Given the description of an element on the screen output the (x, y) to click on. 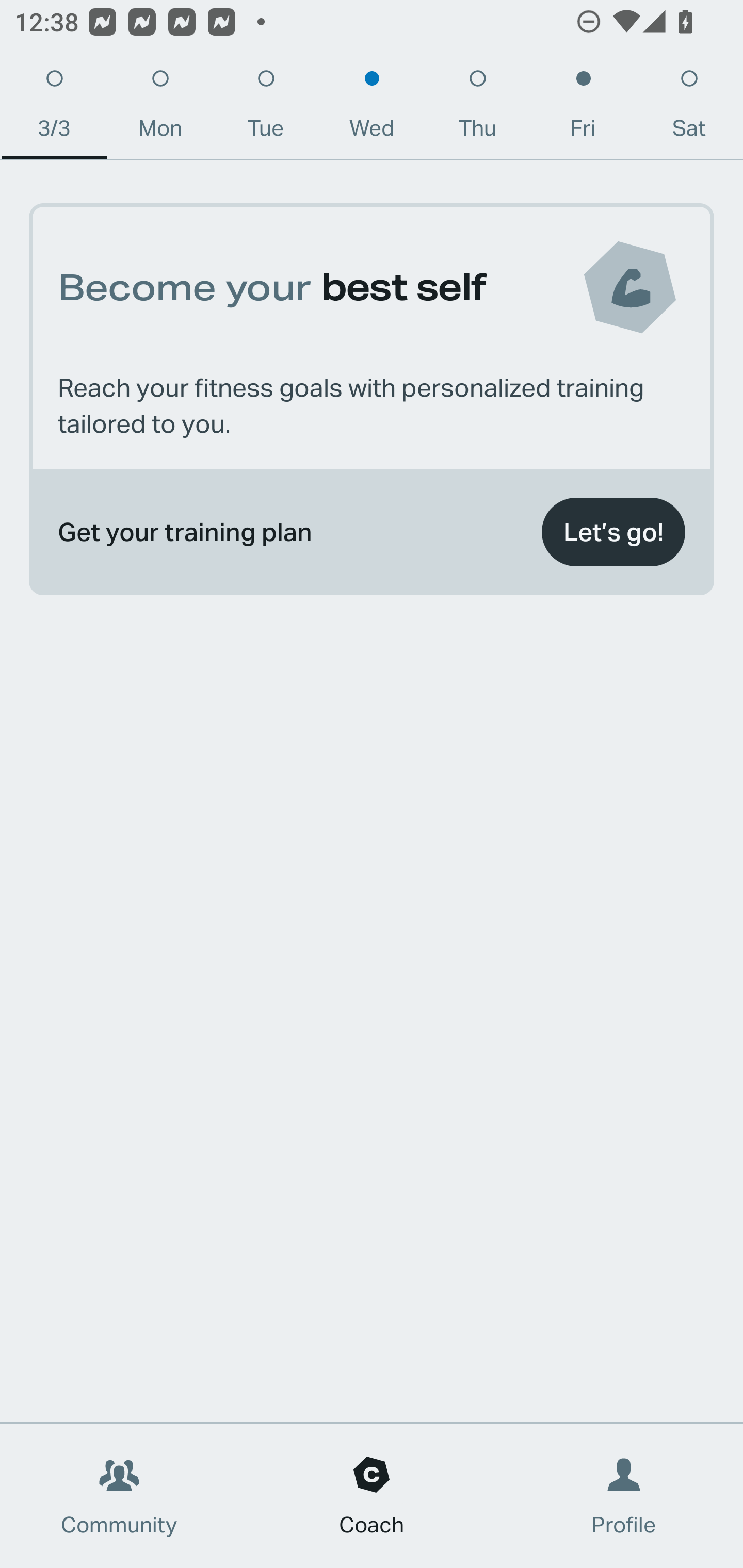
3/3 (53, 108)
Mon (159, 108)
Tue (265, 108)
Wed (371, 108)
Thu (477, 108)
Fri (583, 108)
Sat (689, 108)
Let’s go! (613, 532)
Community (119, 1495)
Profile (624, 1495)
